Given the description of an element on the screen output the (x, y) to click on. 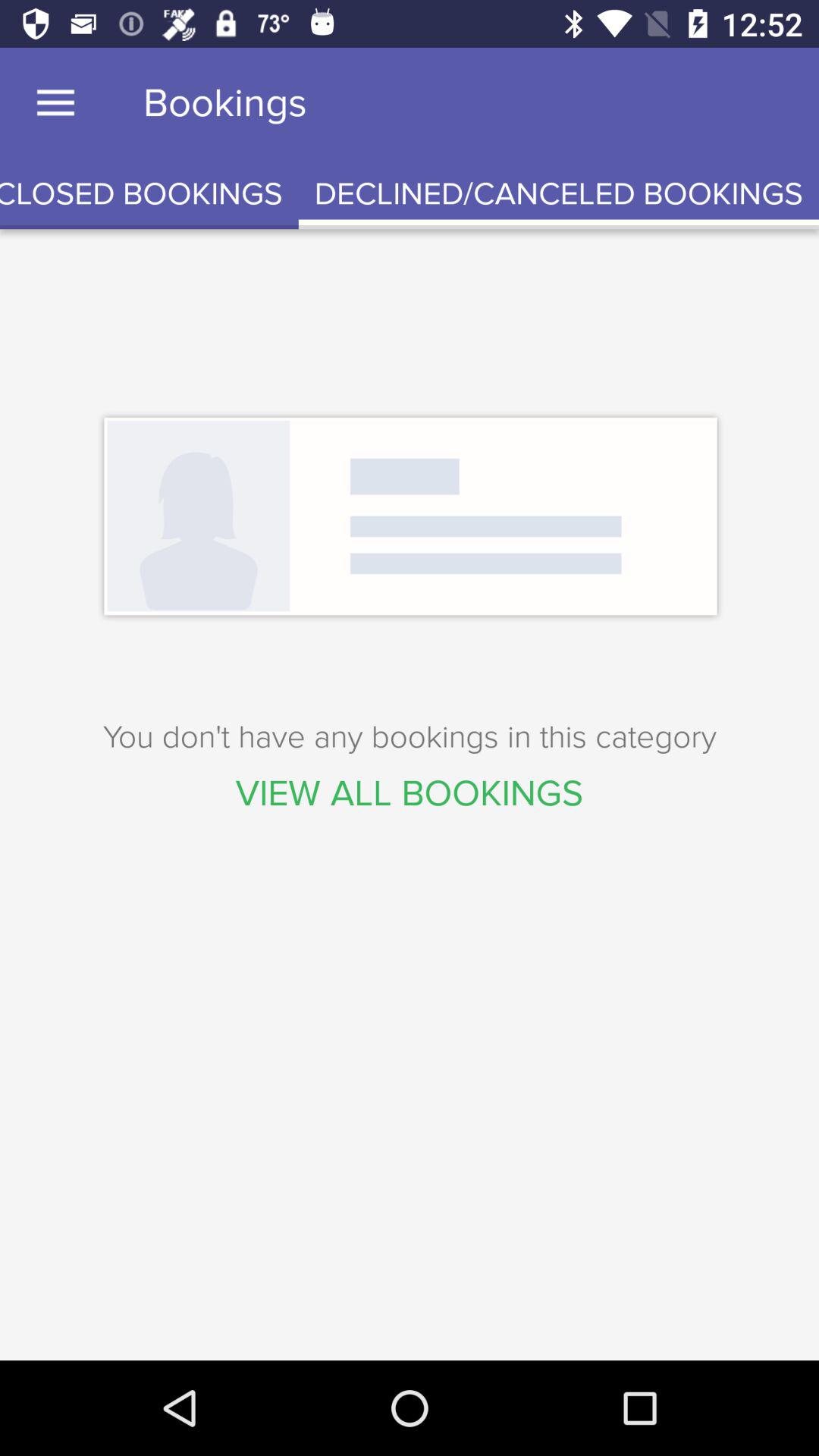
open the icon next to the declined/canceled bookings icon (149, 194)
